Given the description of an element on the screen output the (x, y) to click on. 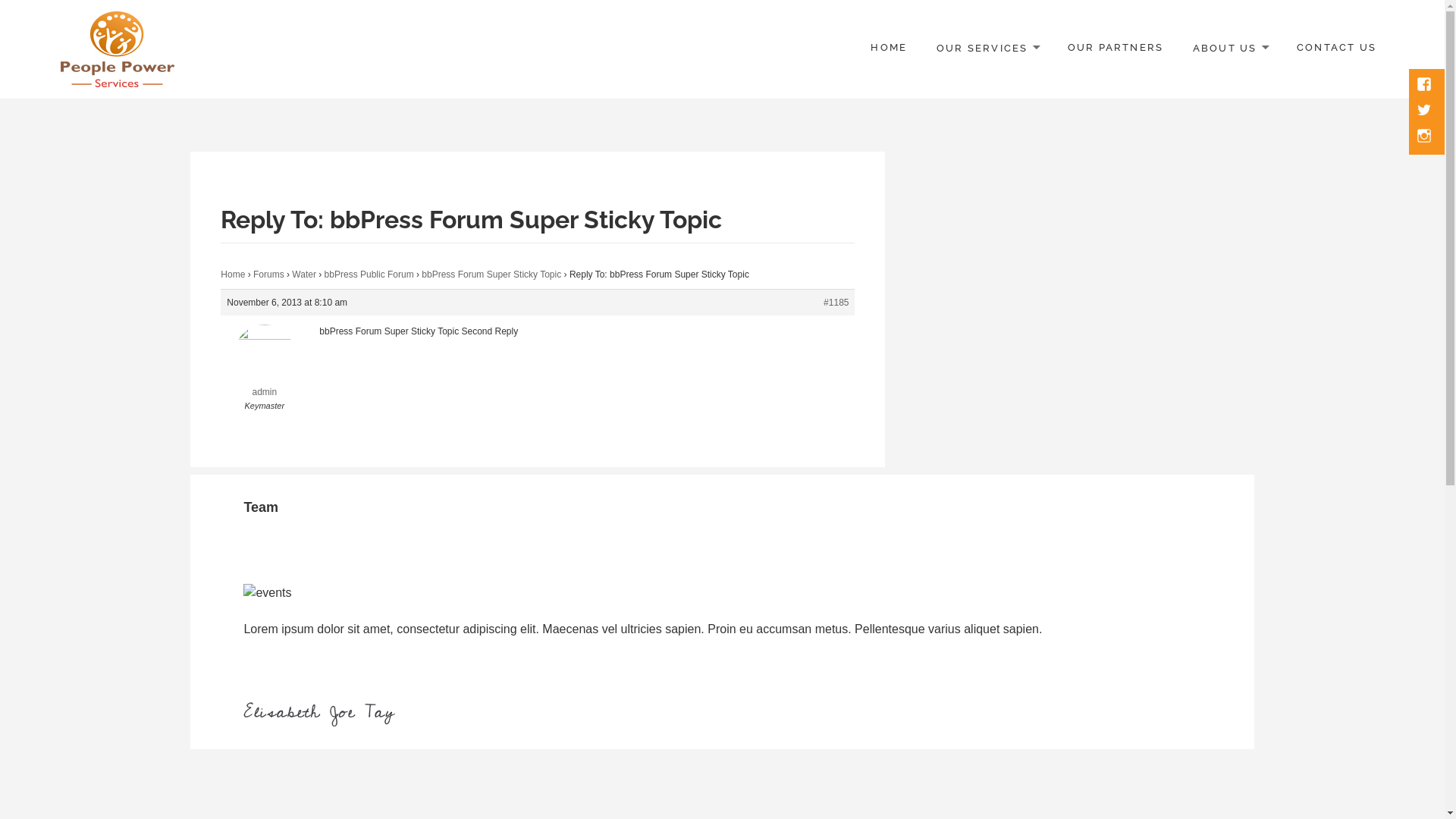
Forums Element type: text (268, 274)
OUR SERVICES Element type: text (987, 48)
OUR PARTNERS Element type: text (1115, 48)
#1185 Element type: text (835, 302)
bbPress Public Forum Element type: text (369, 274)
People Power Services Ltd Element type: text (190, 99)
Facebook Element type: text (1425, 85)
admin Element type: text (263, 371)
bbPress Forum Super Sticky Topic Element type: text (491, 274)
ABOUT US Element type: text (1229, 48)
Home Element type: text (232, 274)
Instagram Element type: text (1425, 137)
HOME Element type: text (888, 48)
Twitter Element type: text (1425, 111)
CONTACT US Element type: text (1336, 48)
Water Element type: text (303, 274)
